Given the description of an element on the screen output the (x, y) to click on. 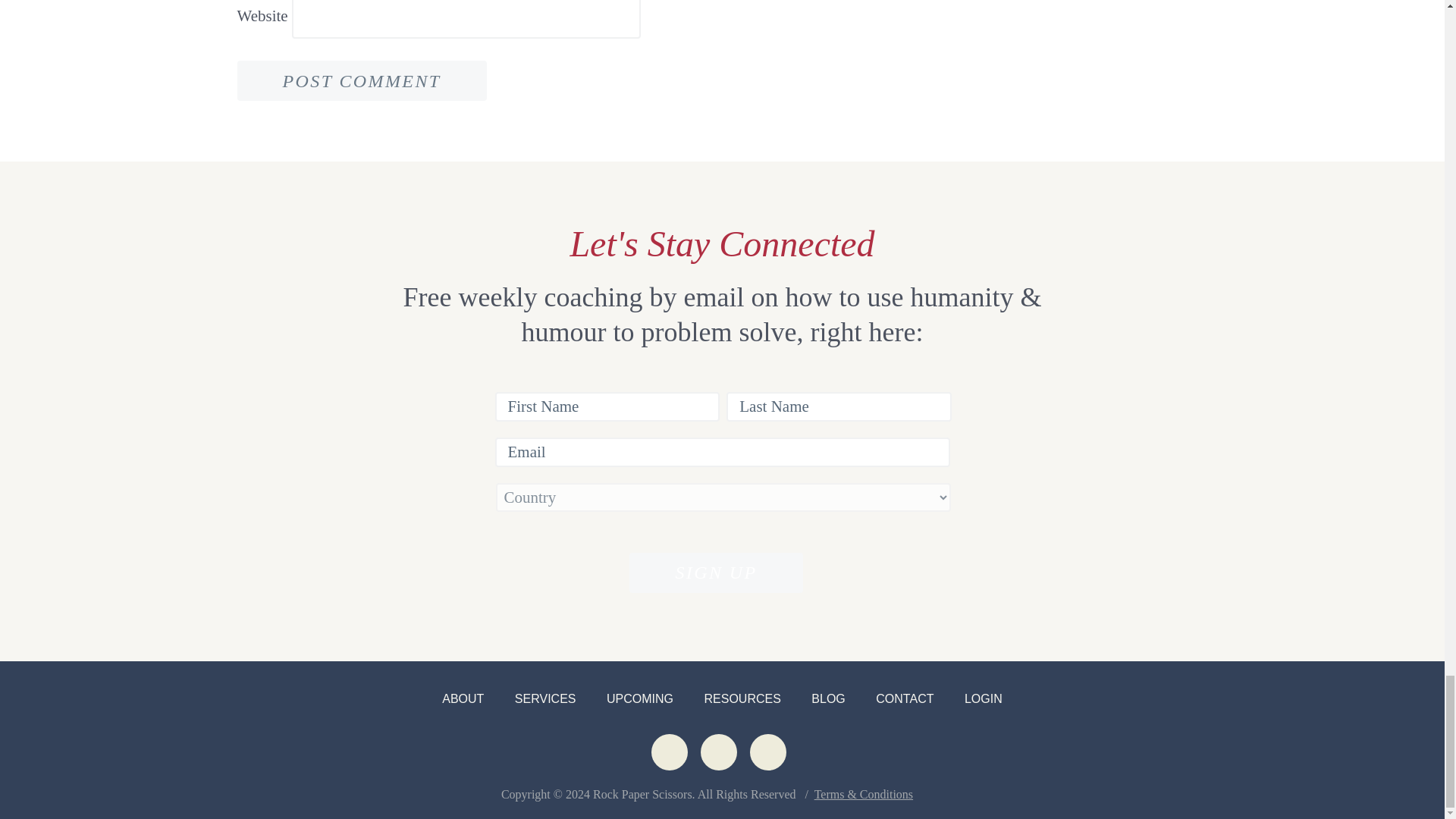
Sign Up (715, 572)
Post Comment (360, 80)
ABOUT (462, 698)
Post Comment (360, 80)
Sign Up (715, 572)
SERVICES (545, 698)
